Given the description of an element on the screen output the (x, y) to click on. 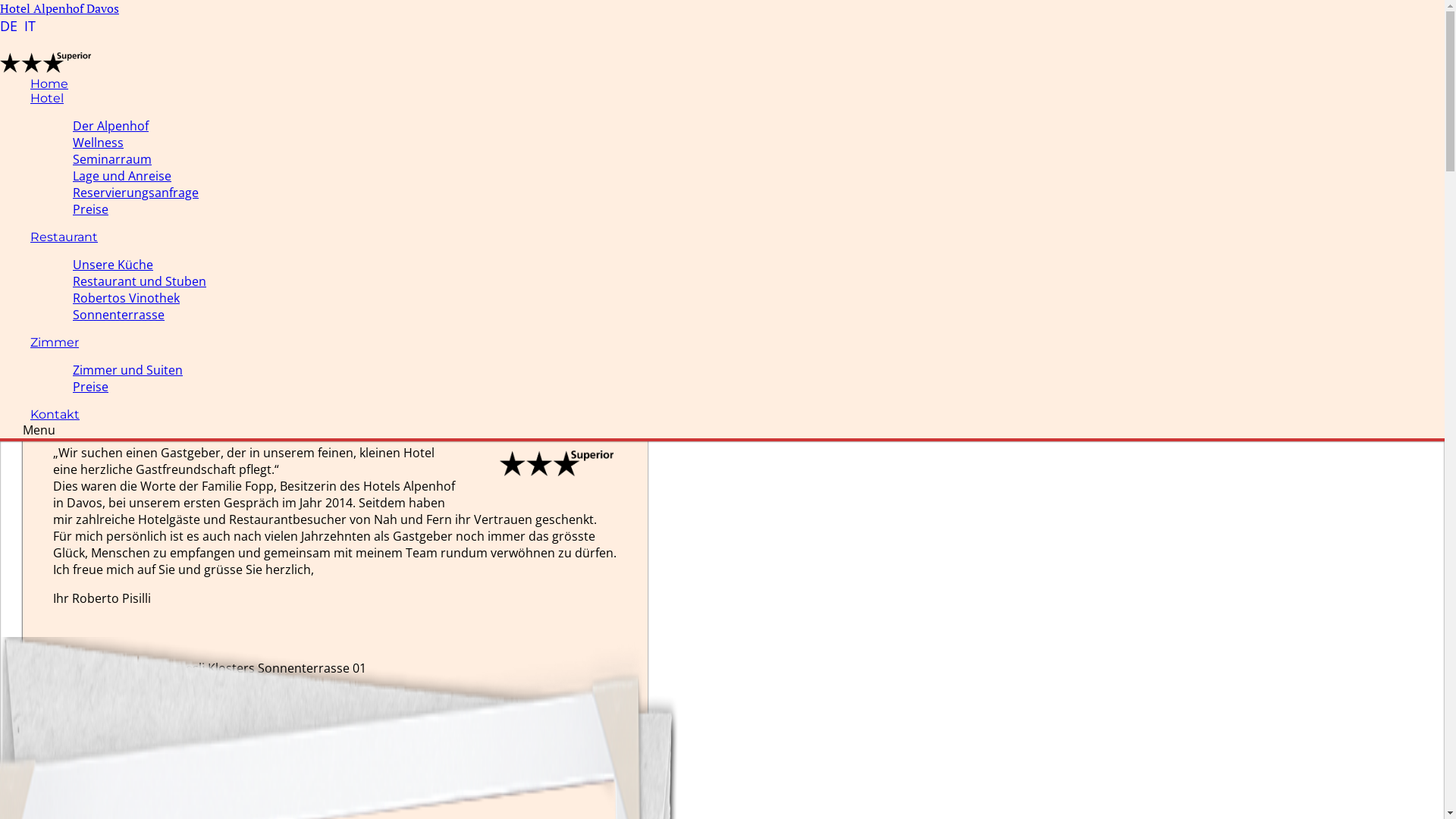
Zimmer und Suiten Element type: text (127, 369)
Restaurant und Stuben Element type: text (139, 281)
Preise Element type: text (90, 386)
Sonnenterrasse Element type: text (118, 314)
Wellness Element type: text (97, 142)
Zimmer Element type: text (54, 342)
Kontakt Element type: text (54, 414)
Robertos Vinothek Element type: text (125, 297)
Restaurant Element type: text (63, 236)
Lage und Anreise Element type: text (121, 175)
Home Element type: text (49, 83)
Seminarraum Element type: text (111, 158)
Reservierungsanfrage Element type: text (135, 192)
IT Element type: text (29, 25)
Hotel Element type: text (46, 98)
DE Element type: text (10, 25)
Der Alpenhof Element type: text (110, 125)
Hotel Alpenhof Davos Element type: text (59, 8)
Preise Element type: text (90, 208)
